Given the description of an element on the screen output the (x, y) to click on. 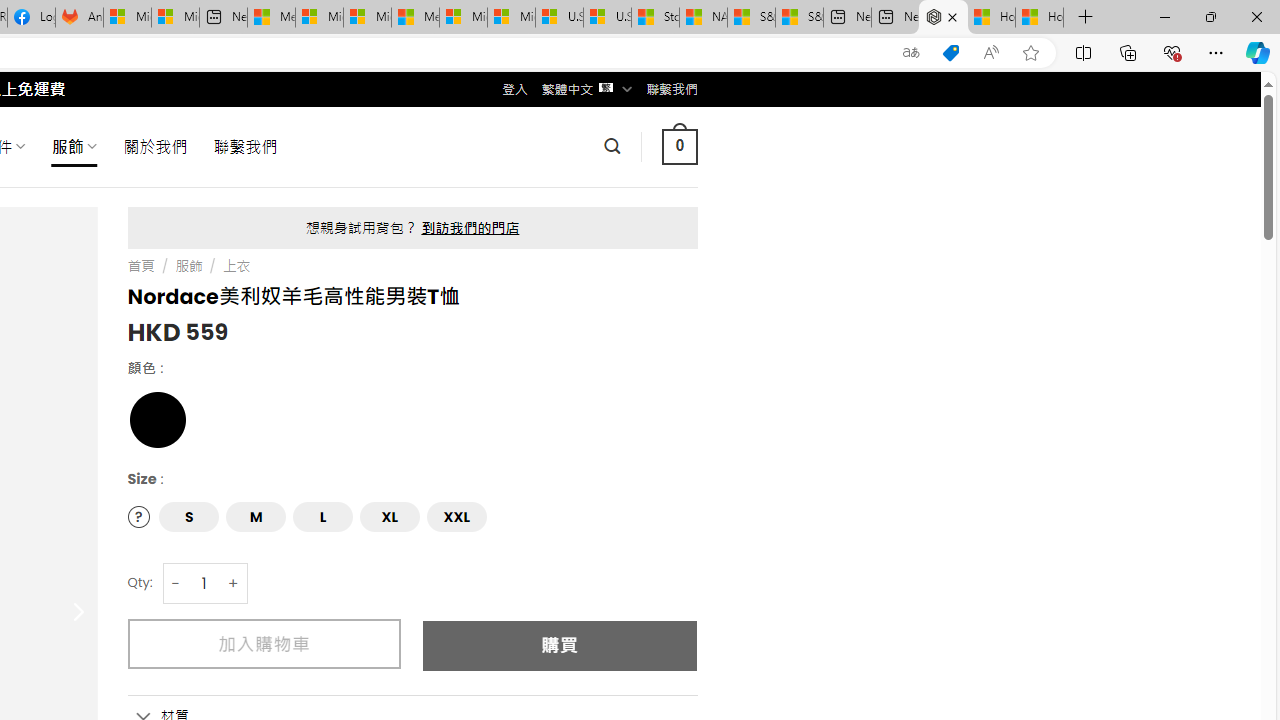
How to Use a Monitor With Your Closed Laptop (1039, 17)
